Given the description of an element on the screen output the (x, y) to click on. 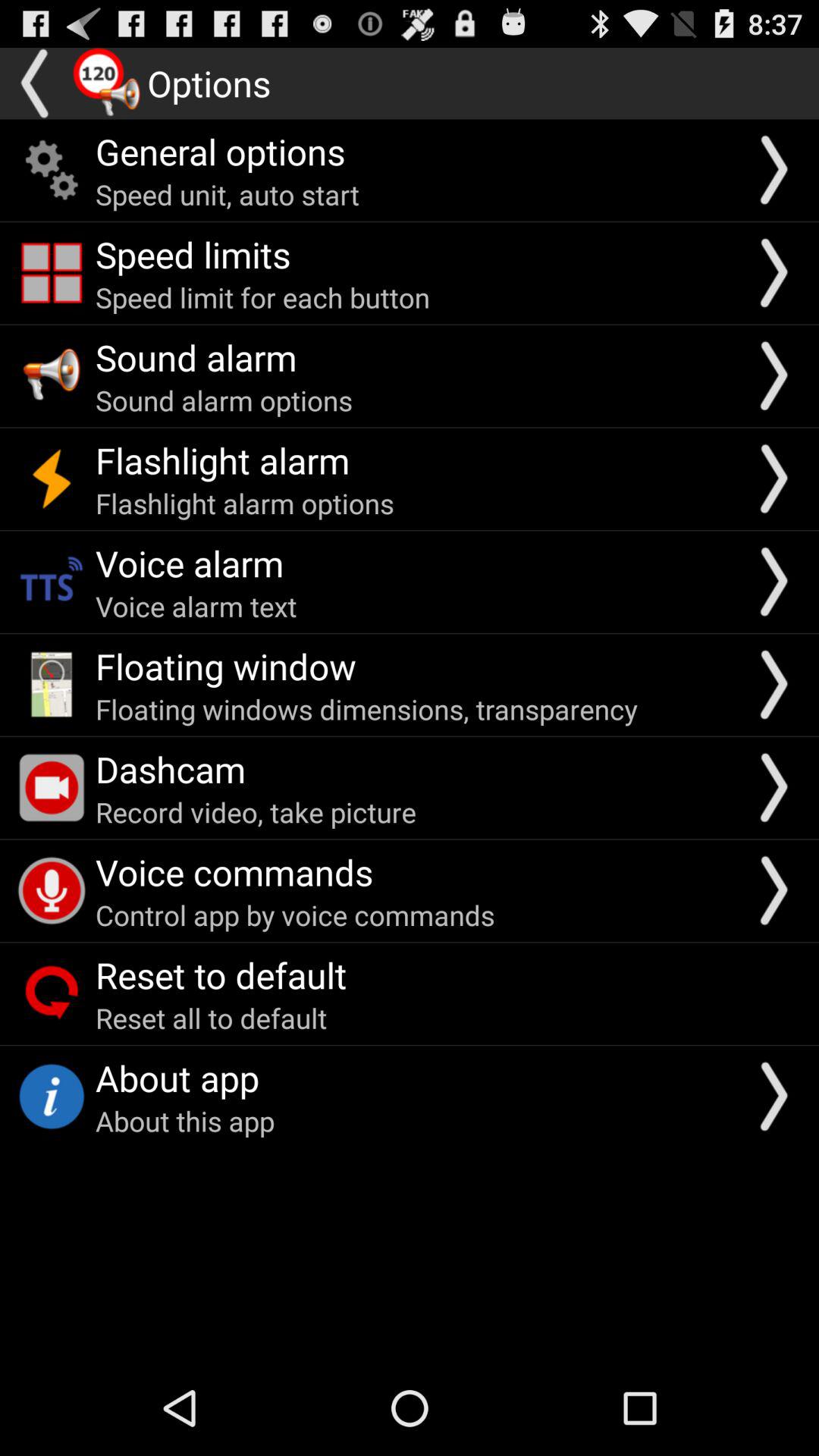
flip to the record video take icon (255, 811)
